Given the description of an element on the screen output the (x, y) to click on. 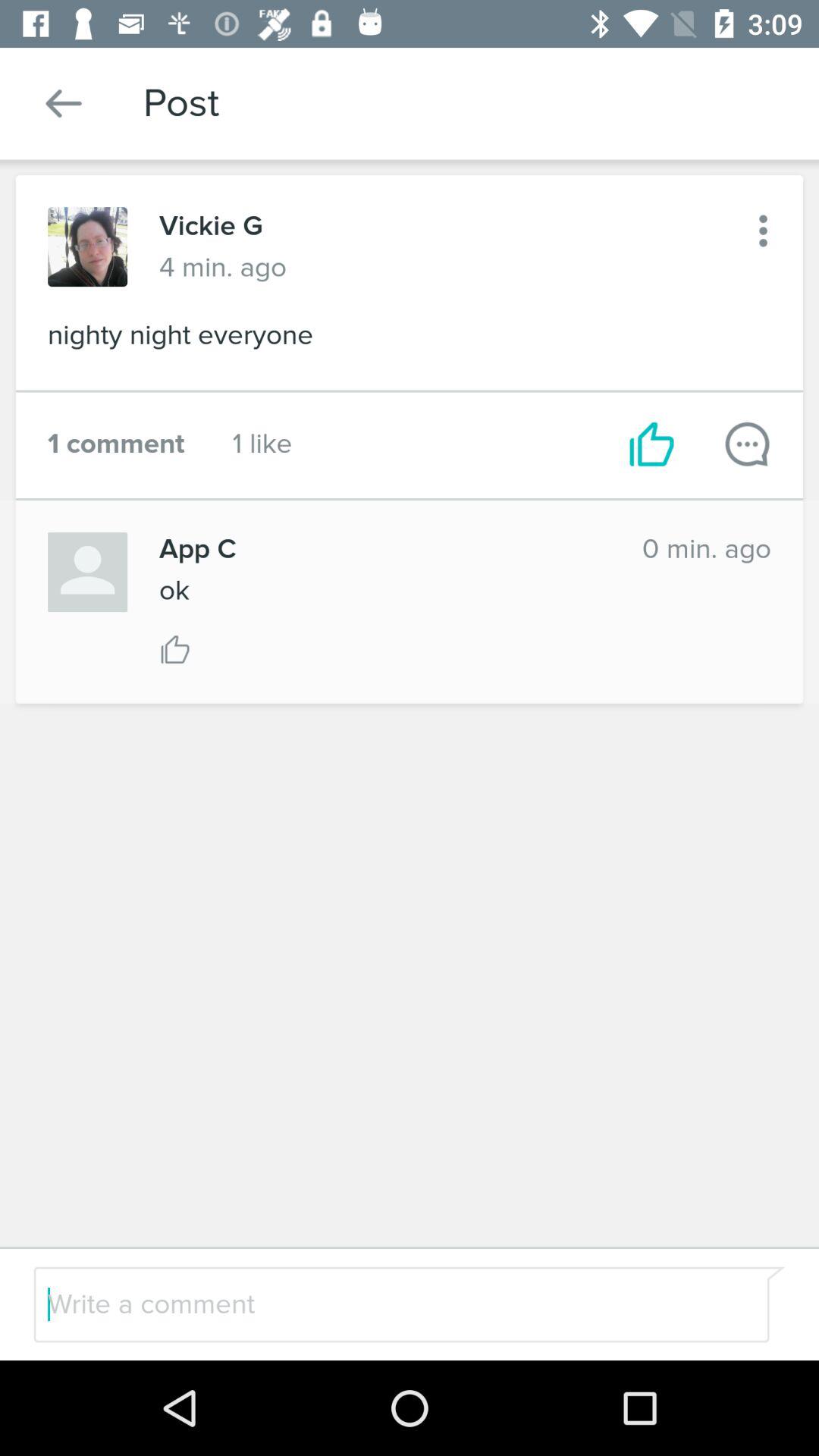
swipe to app c (384, 548)
